Given the description of an element on the screen output the (x, y) to click on. 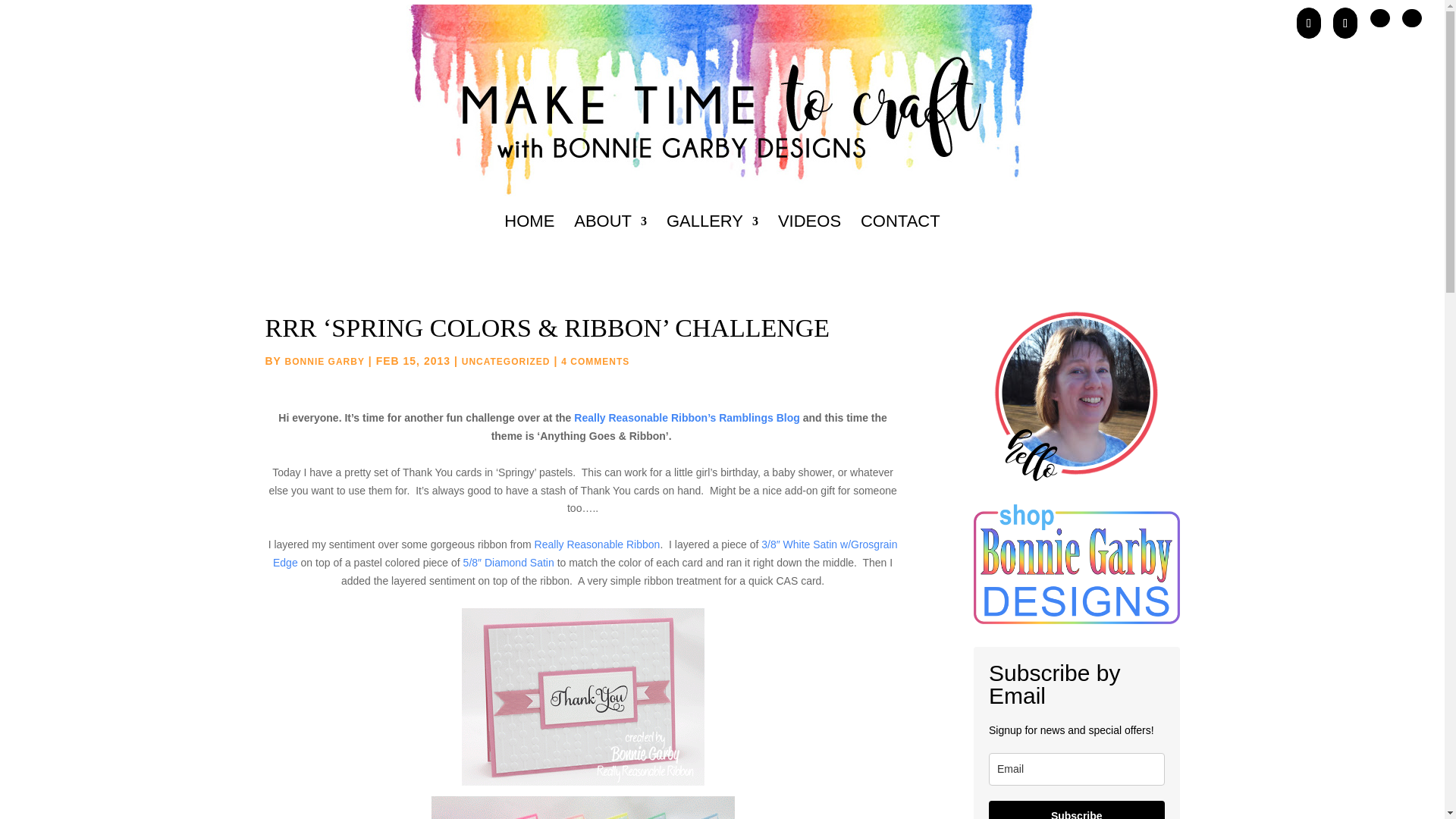
ABOUT (609, 240)
Posts by Bonnie Garby (325, 361)
GALLERY (712, 240)
HOME (528, 240)
Really Reasonable Ribbon (597, 544)
CONTACT (900, 240)
BONNIE GARBY (325, 361)
UNCATEGORIZED (505, 361)
4 COMMENTS (594, 361)
VIDEOS (809, 240)
